Given the description of an element on the screen output the (x, y) to click on. 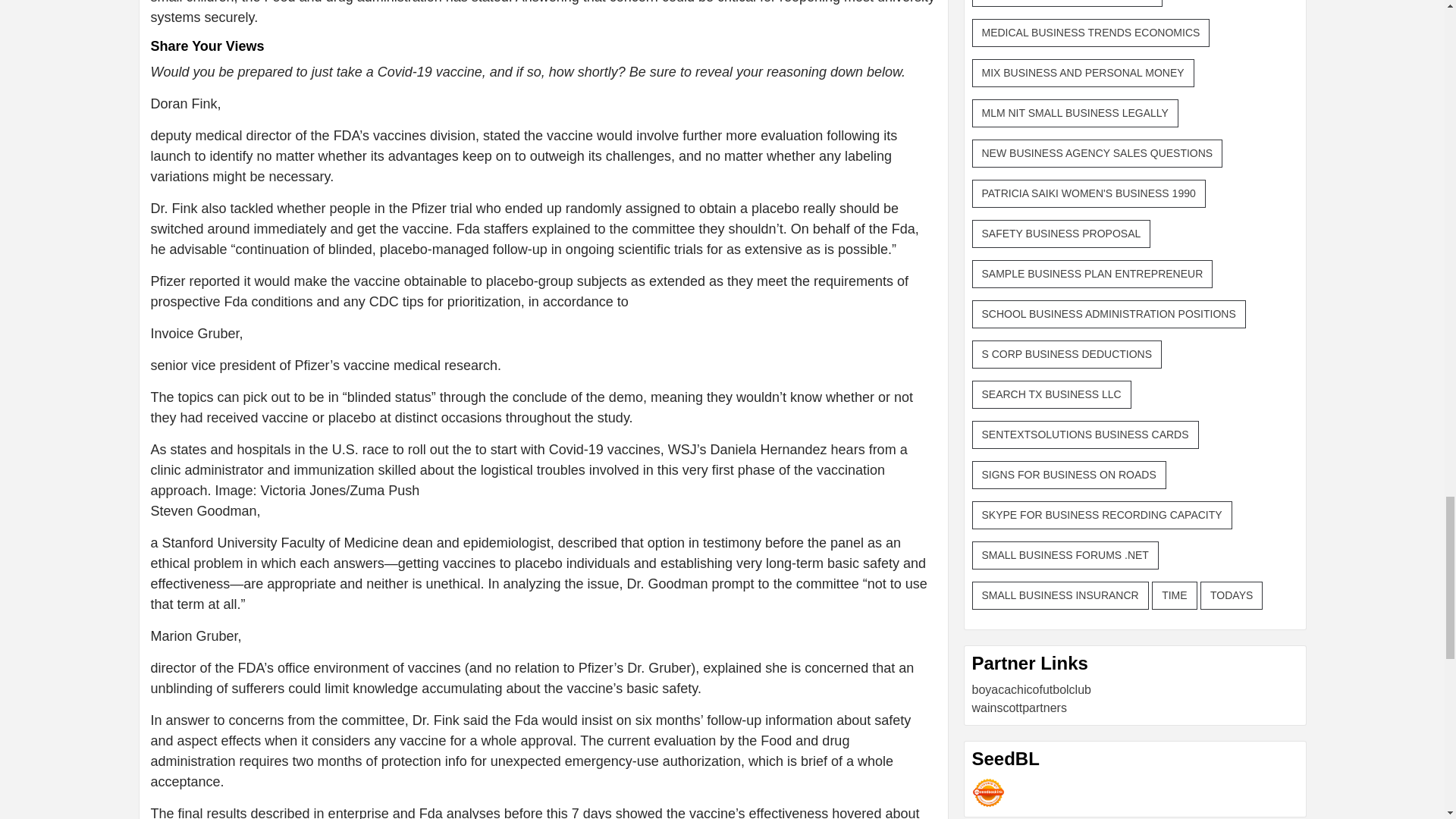
Seedbacklink (988, 792)
